Given the description of an element on the screen output the (x, y) to click on. 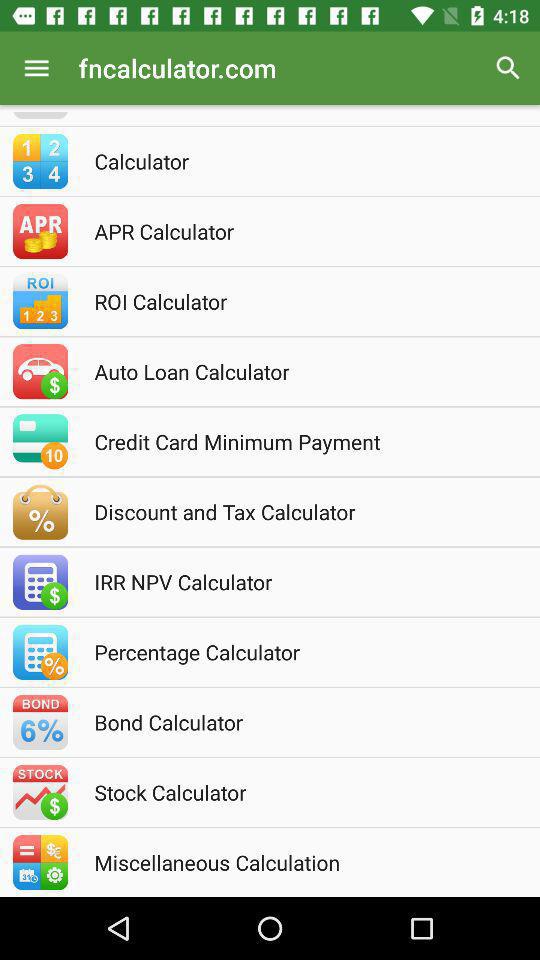
flip to discount and tax (297, 511)
